Given the description of an element on the screen output the (x, y) to click on. 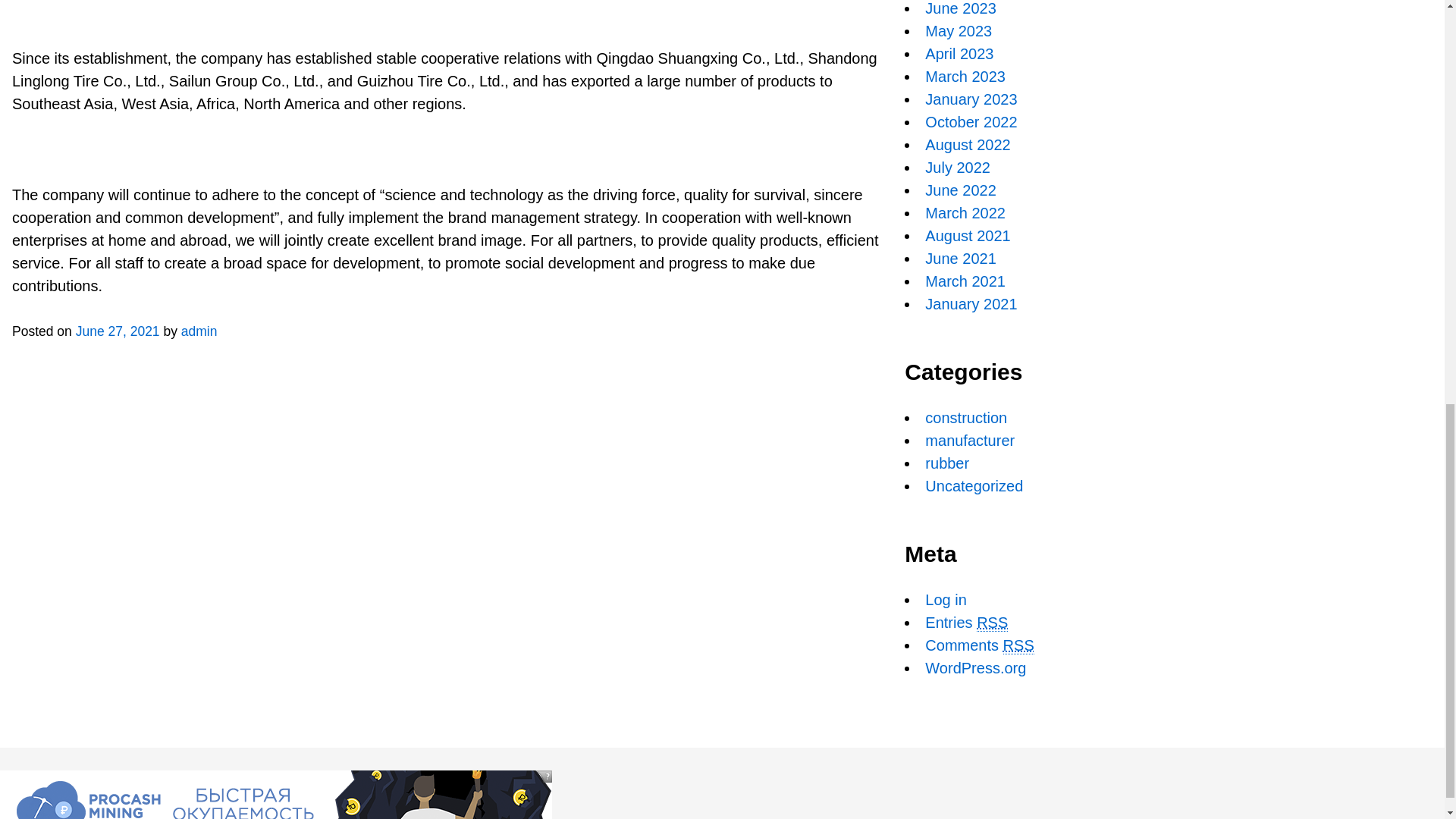
manufacturer (969, 440)
March 2021 (965, 280)
April 2023 (958, 53)
August 2022 (967, 144)
March 2022 (965, 212)
January 2023 (970, 98)
May 2023 (957, 30)
June 27, 2021 (117, 331)
June 2023 (959, 8)
